Given the description of an element on the screen output the (x, y) to click on. 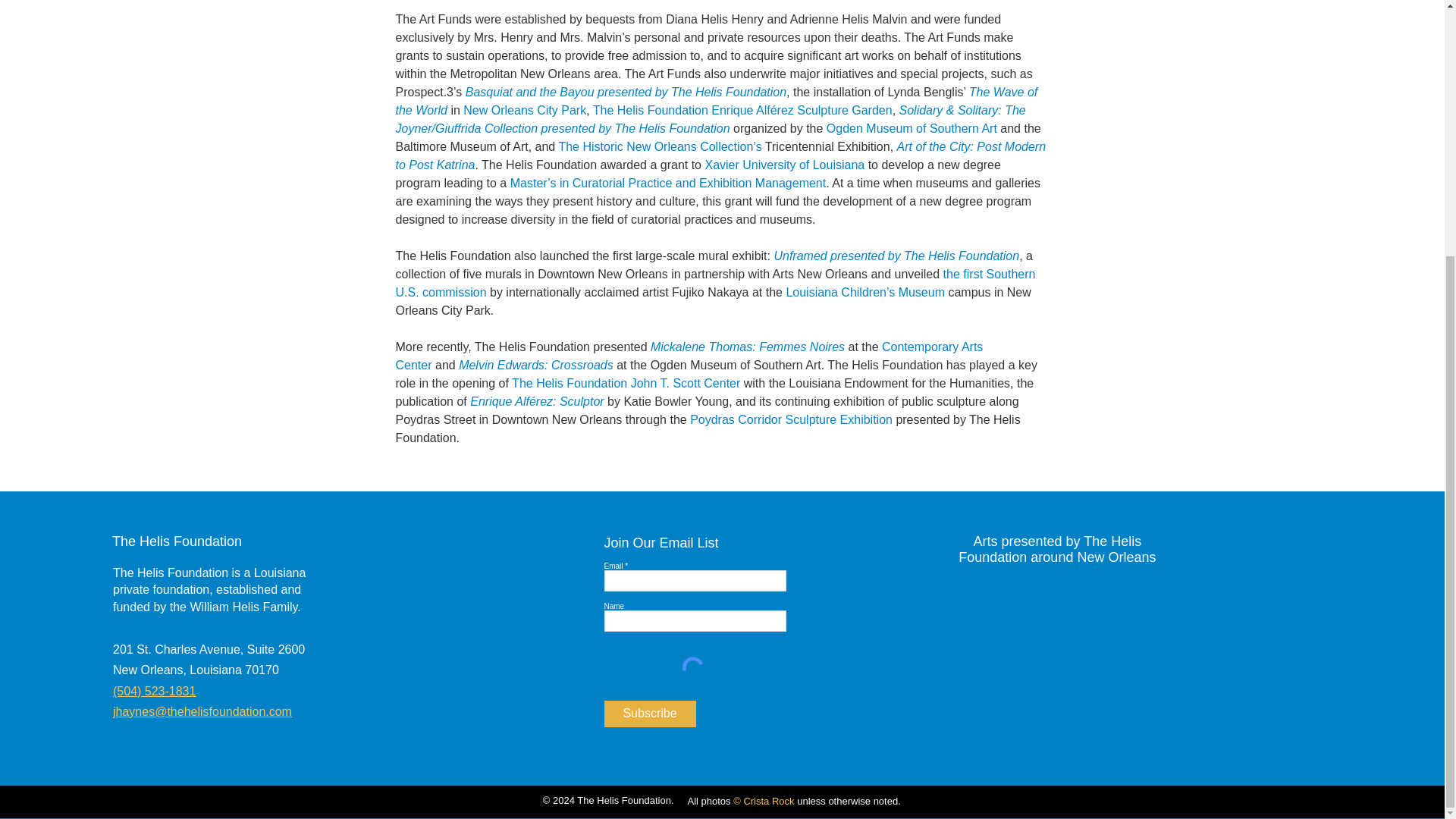
Ogden Museum of Southern Art (912, 128)
the first Southern U.S. commission (715, 282)
Subscribe (649, 714)
Xavier University of Louisiana (784, 164)
Google Maps (1056, 654)
Melvin Edwards: Crossroads (535, 364)
Basquiat and the Bayou presented by The Helis Foundation (625, 91)
New Orleans City Park (524, 110)
Unframed presented by The Helis Foundation (896, 255)
Contemporary Arts Center (690, 355)
The Helis Foundation John T. Scott Center (625, 382)
Poydras Corridor Sculpture Exhibition (791, 419)
The Wave of the World (717, 101)
Art of the City: Post Modern to Post Katrina (721, 155)
Mickalene Thomas: Femmes Noires (747, 346)
